Given the description of an element on the screen output the (x, y) to click on. 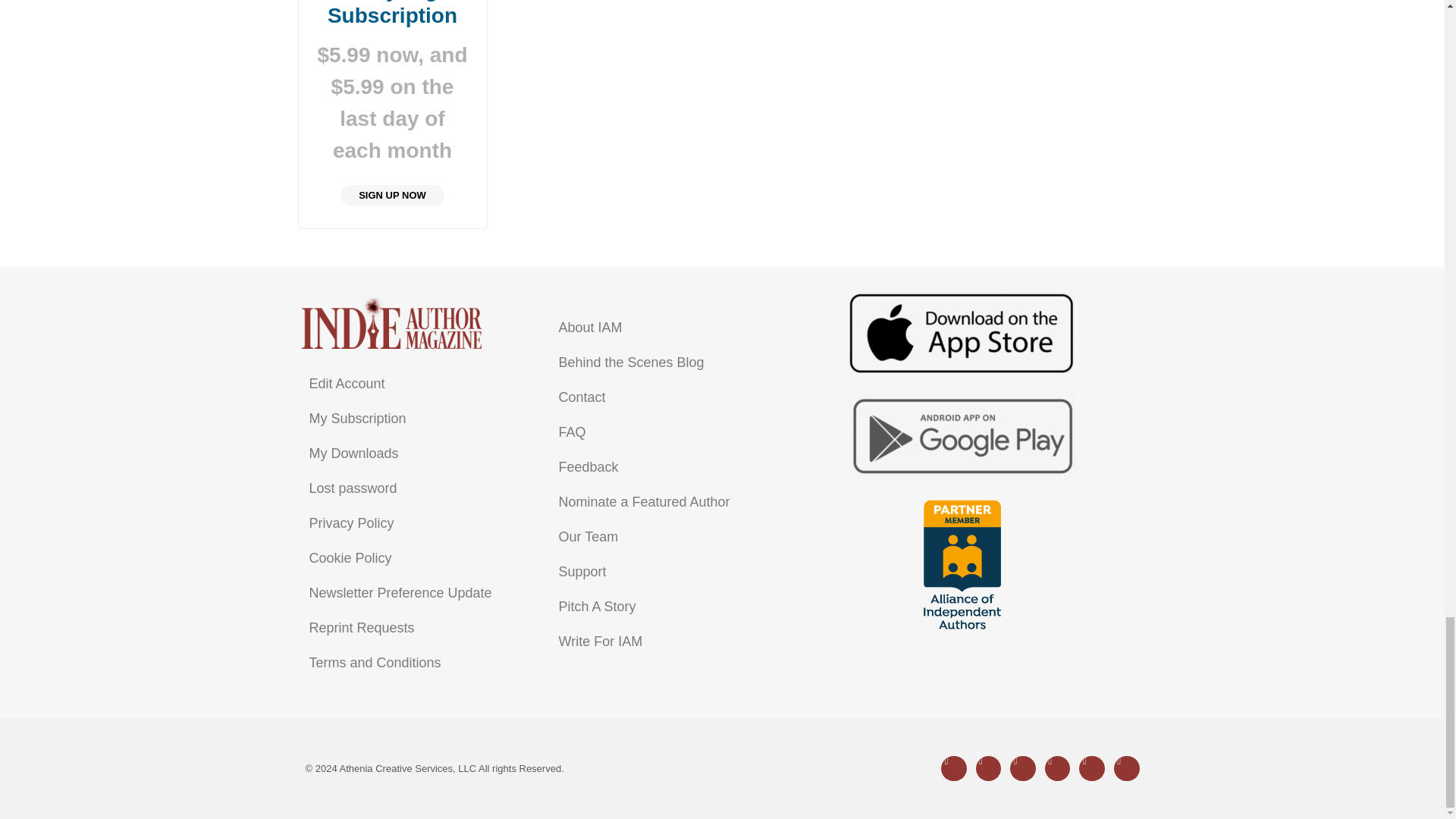
SIGN UP NOW (392, 195)
